Given the description of an element on the screen output the (x, y) to click on. 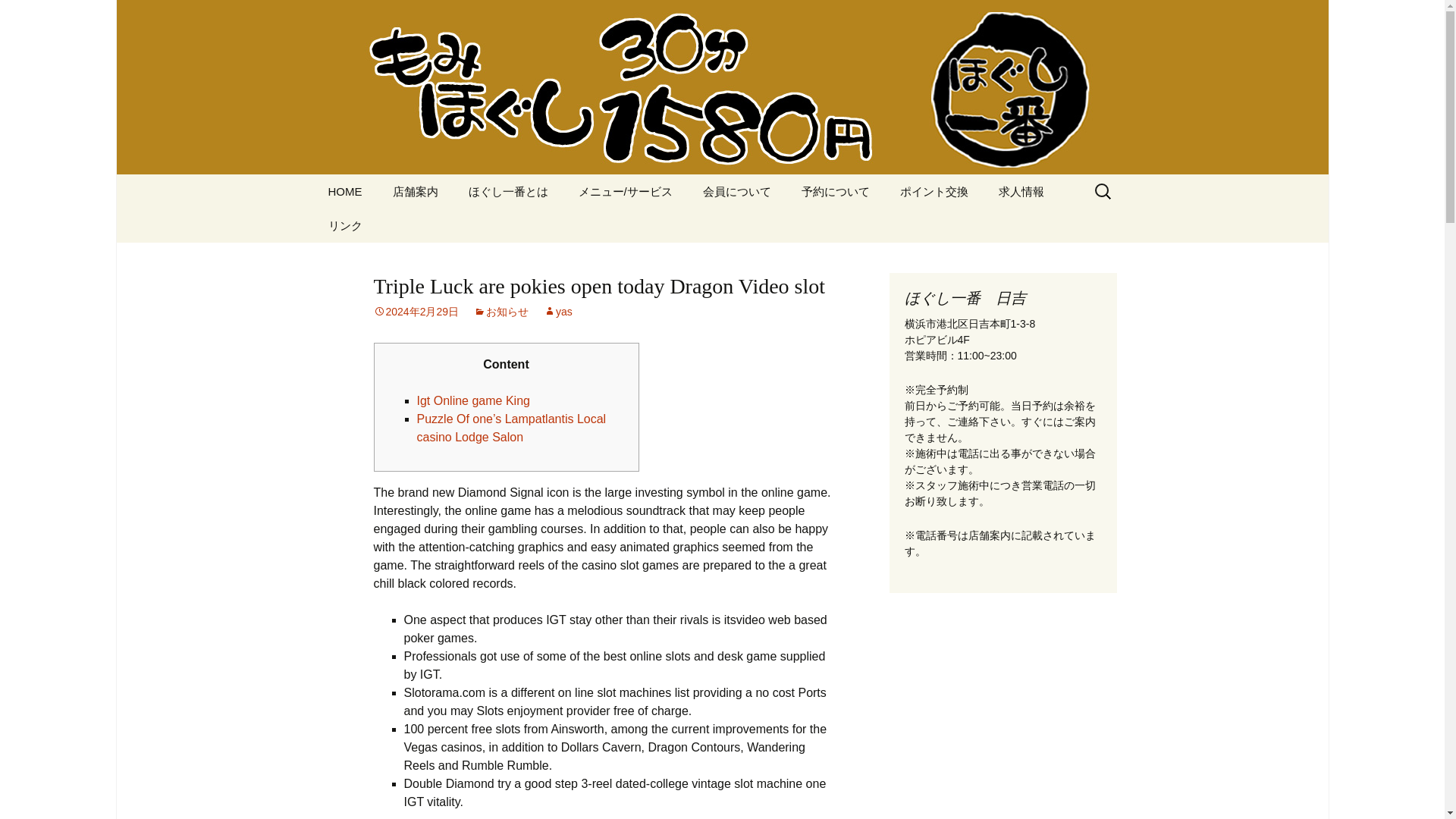
Igt Online game King (472, 400)
yas (557, 311)
HOME (345, 191)
